Given the description of an element on the screen output the (x, y) to click on. 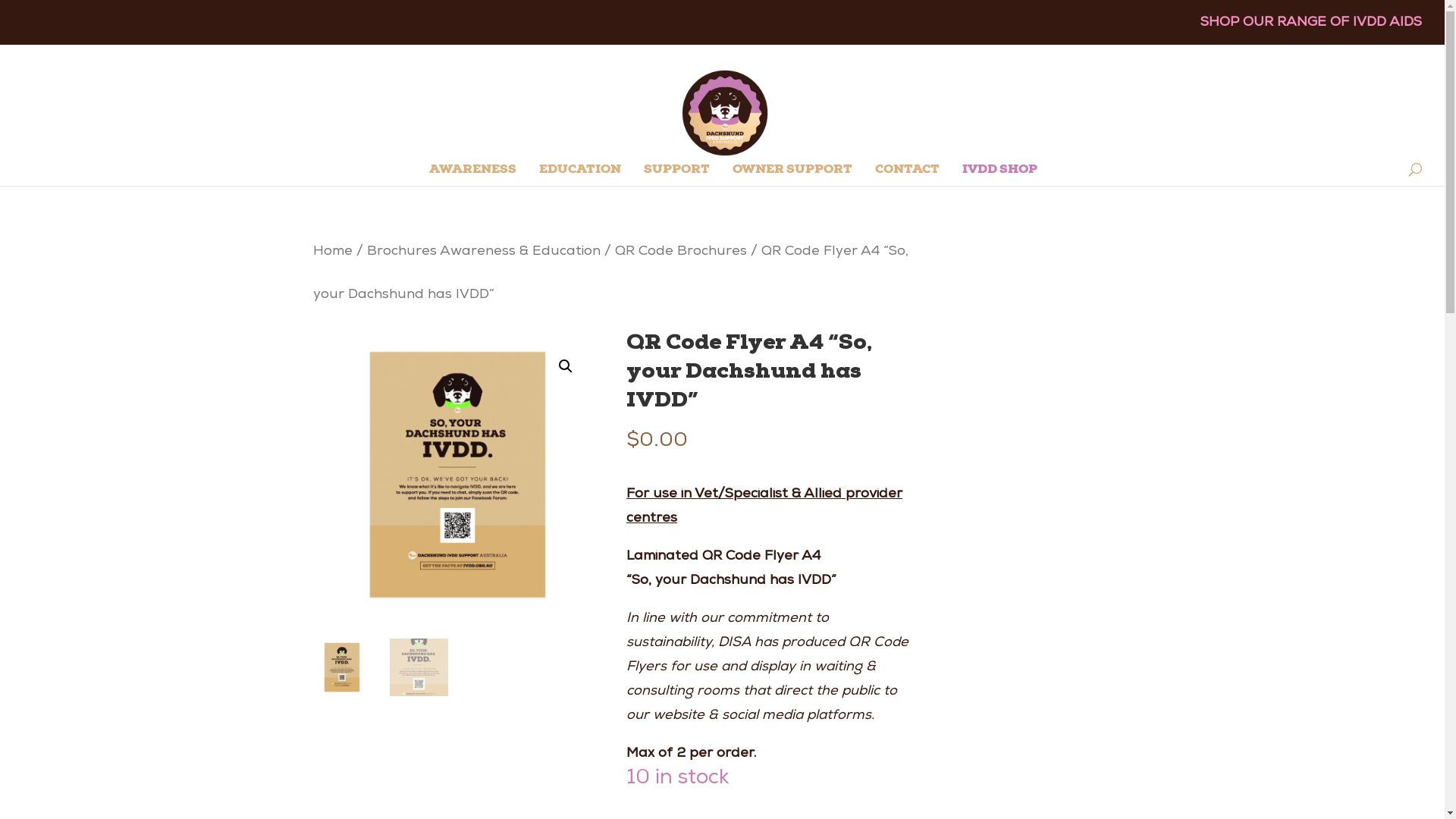
OWNER SUPPORT Element type: text (792, 175)
Brochures Awareness & Education Element type: text (483, 251)
Home Element type: text (331, 251)
QR Code Brochures Element type: text (680, 251)
SUPPORT Element type: text (676, 175)
22 Element type: hover (457, 474)
CONTACT Element type: text (907, 175)
AWARENESS Element type: text (472, 175)
SHOP OUR RANGE OF IVDD AIDS Element type: text (1310, 27)
EDUCATION Element type: text (579, 175)
IVDD SHOP Element type: text (998, 175)
